Given the description of an element on the screen output the (x, y) to click on. 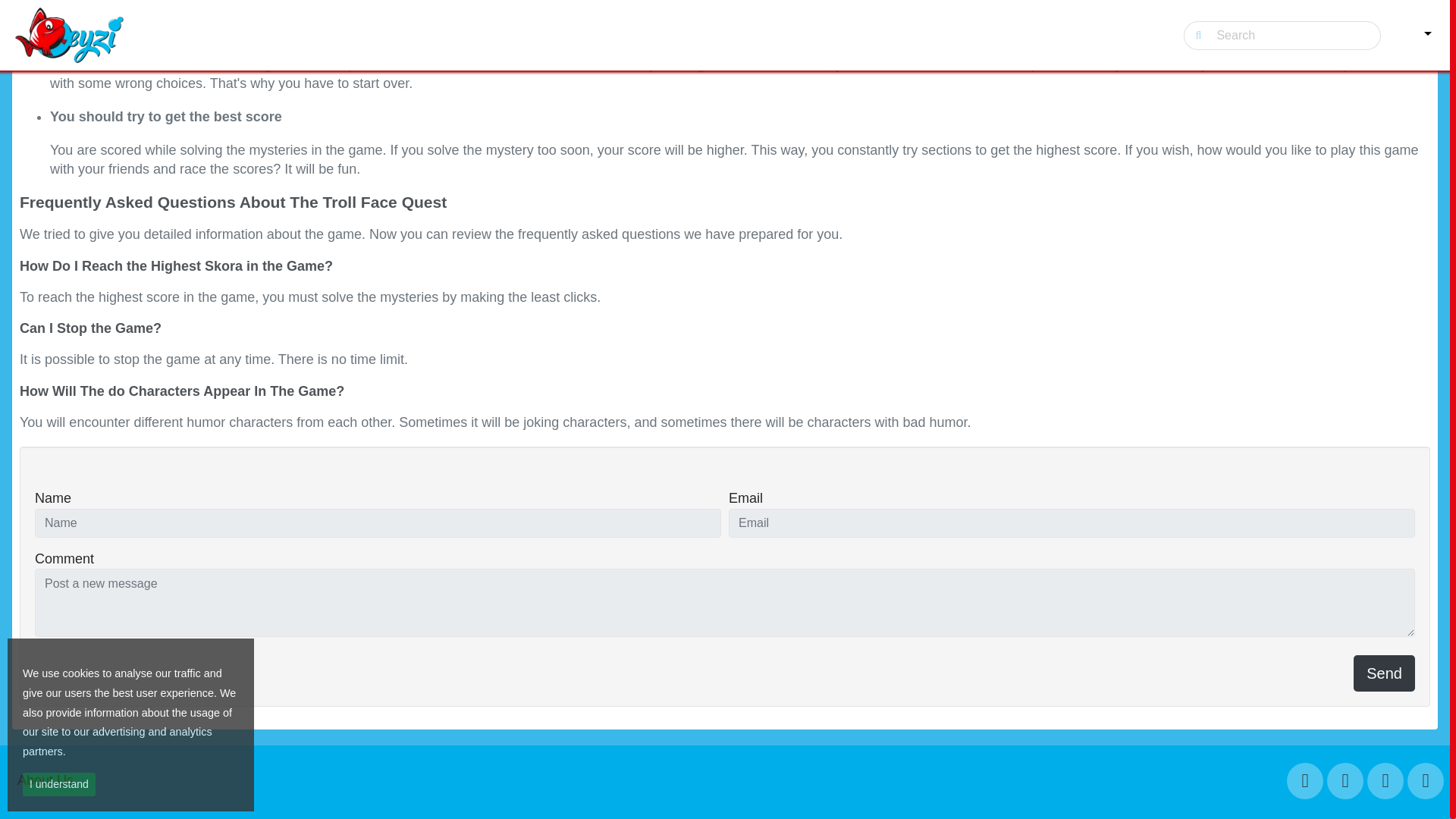
Eyzi Twitter Page (1344, 780)
Eyzi Instagram Page (1385, 780)
Eyzi Facebook Page (1305, 780)
Eyzi Youtube Page (1425, 780)
